Given the description of an element on the screen output the (x, y) to click on. 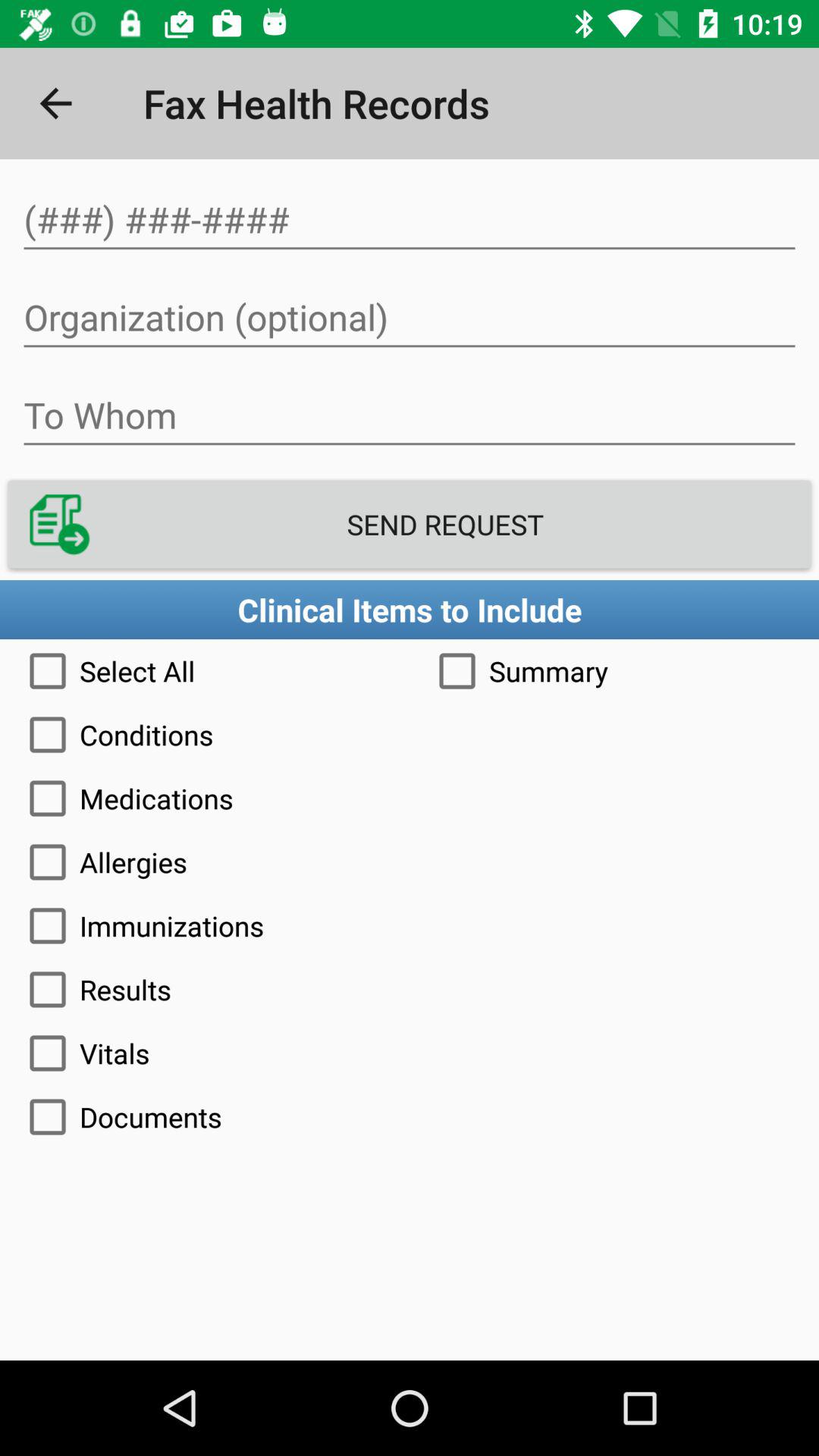
turn on item below clinical items to icon (614, 670)
